Given the description of an element on the screen output the (x, y) to click on. 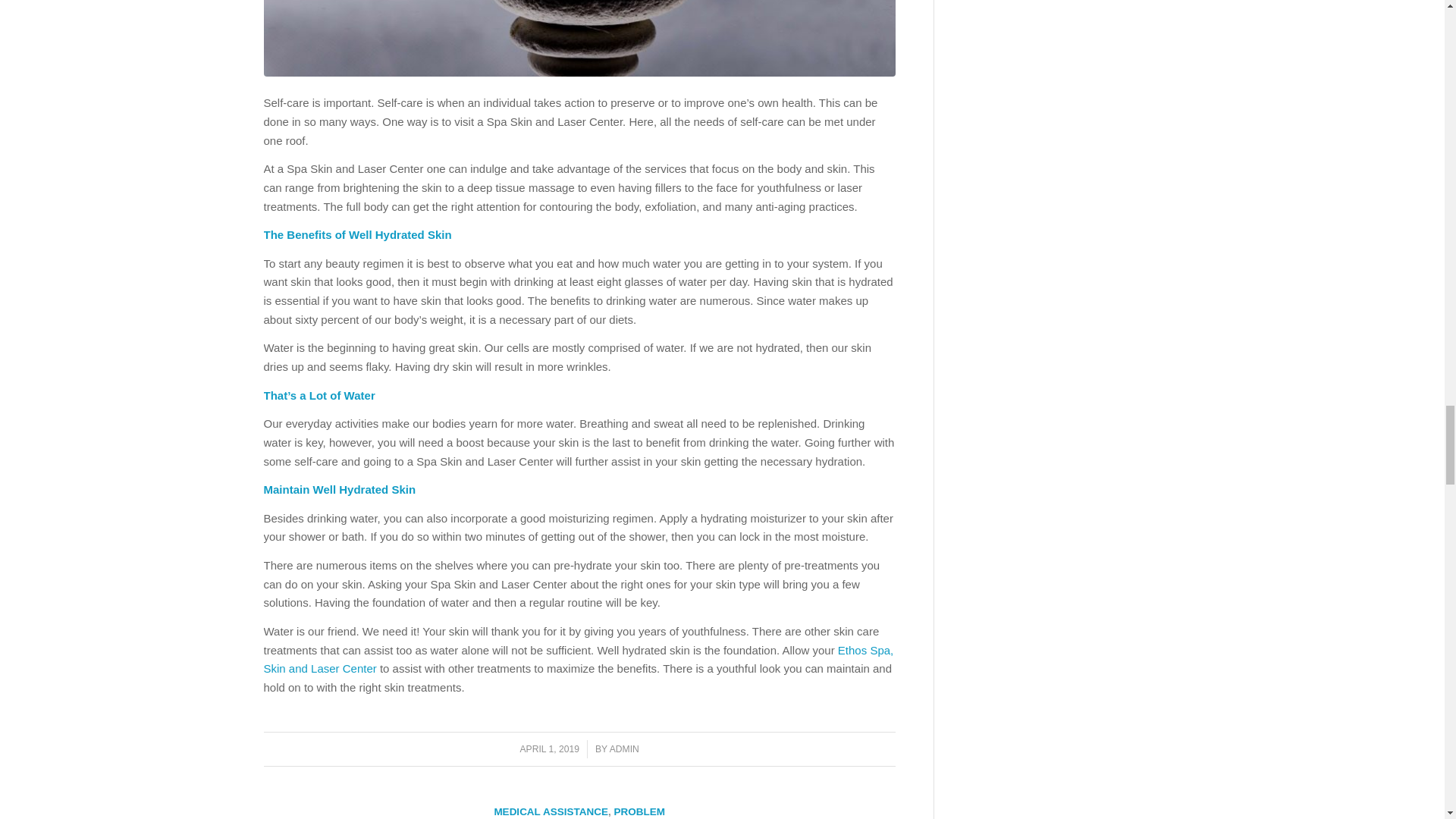
Posts by admin (624, 748)
Benefits of going to a Spa Skin and Laser Center (579, 38)
PROBLEM (638, 811)
MEDICAL ASSISTANCE (550, 811)
Ethos Spa, Skin and Laser Center (578, 659)
ADMIN (624, 748)
